Given the description of an element on the screen output the (x, y) to click on. 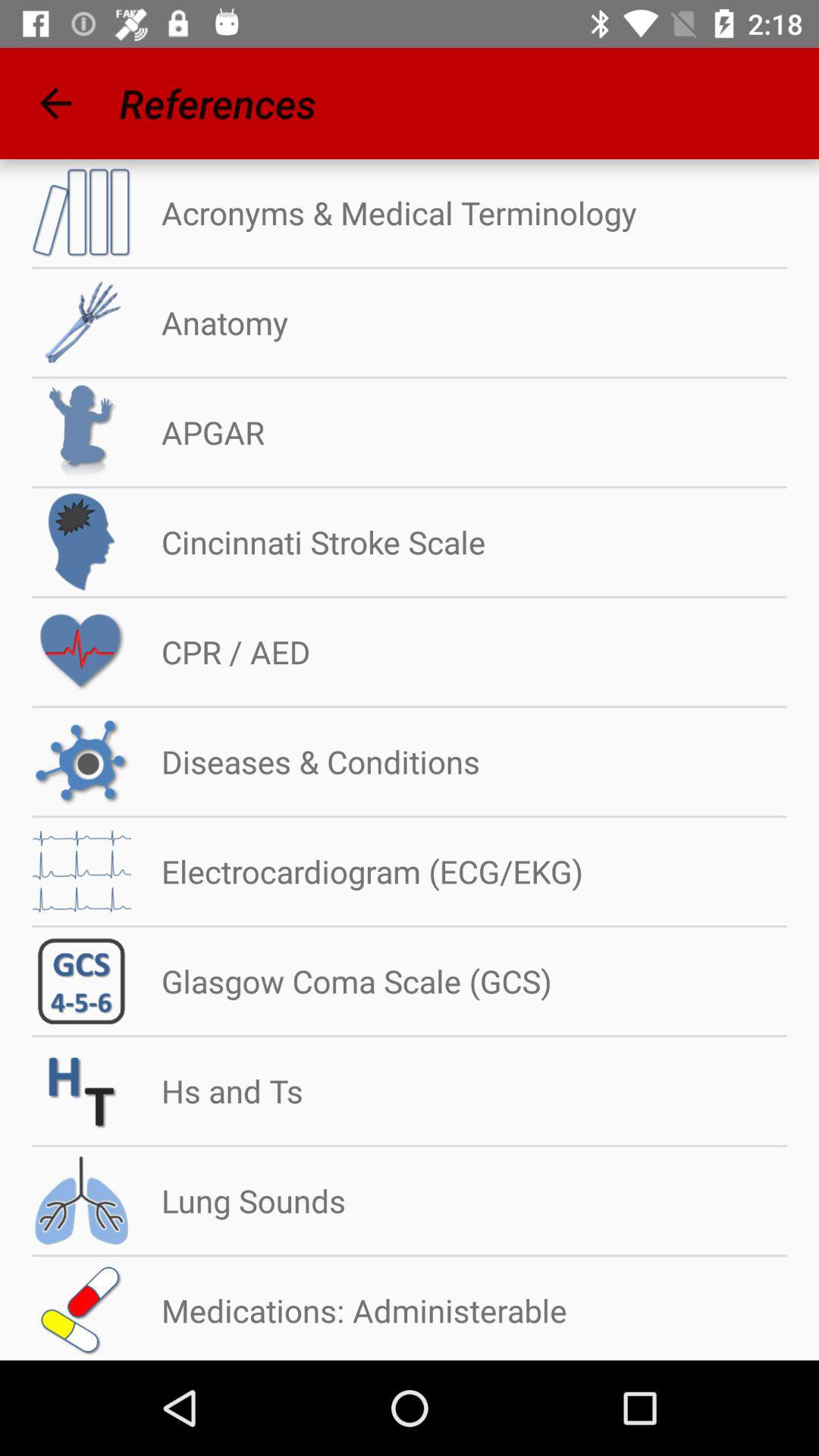
open apgar item (197, 432)
